Given the description of an element on the screen output the (x, y) to click on. 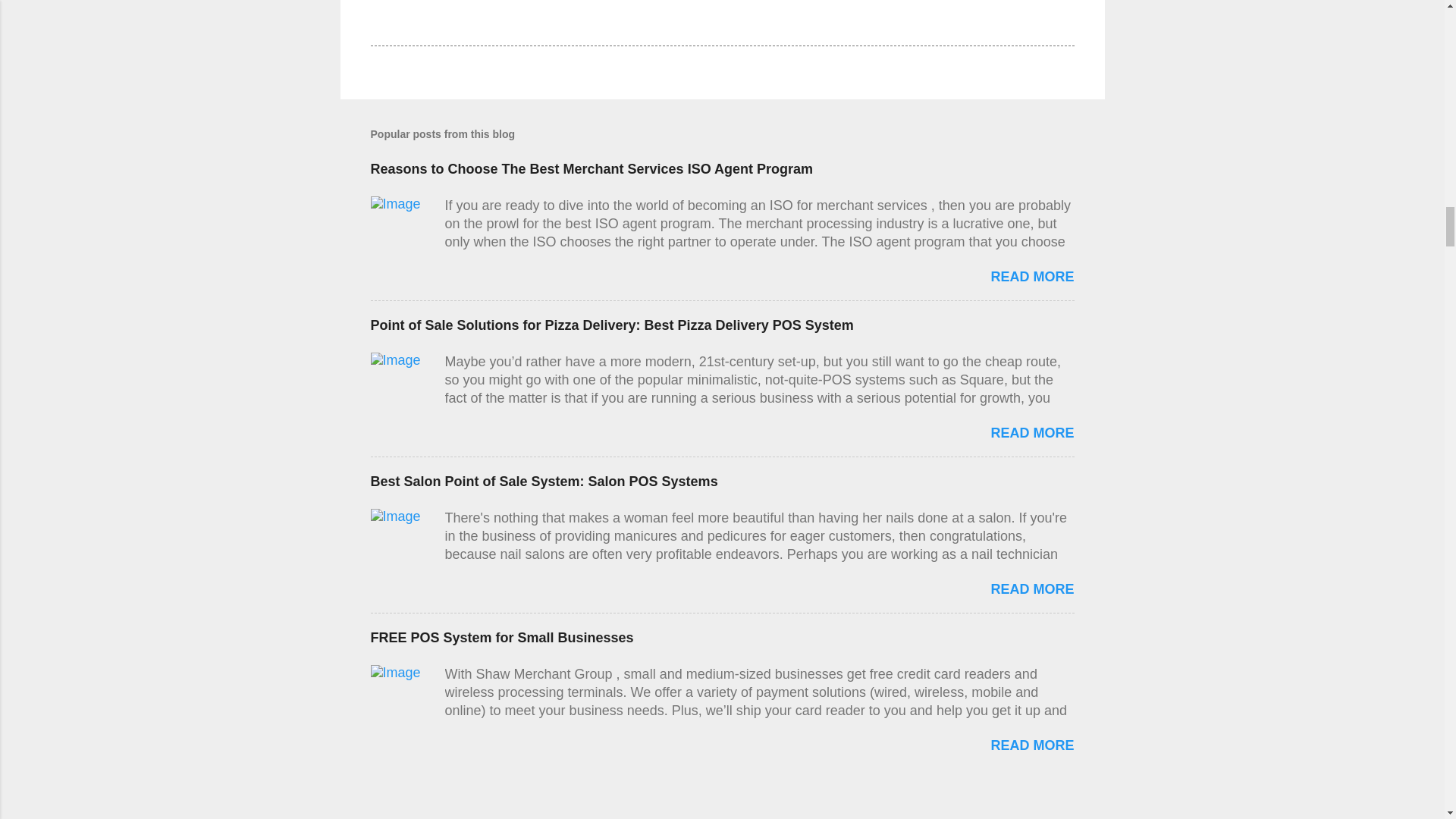
Best Salon Point of Sale System: Salon POS Systems (1032, 589)
FREE POS System for Small Businesses (1032, 744)
